Given the description of an element on the screen output the (x, y) to click on. 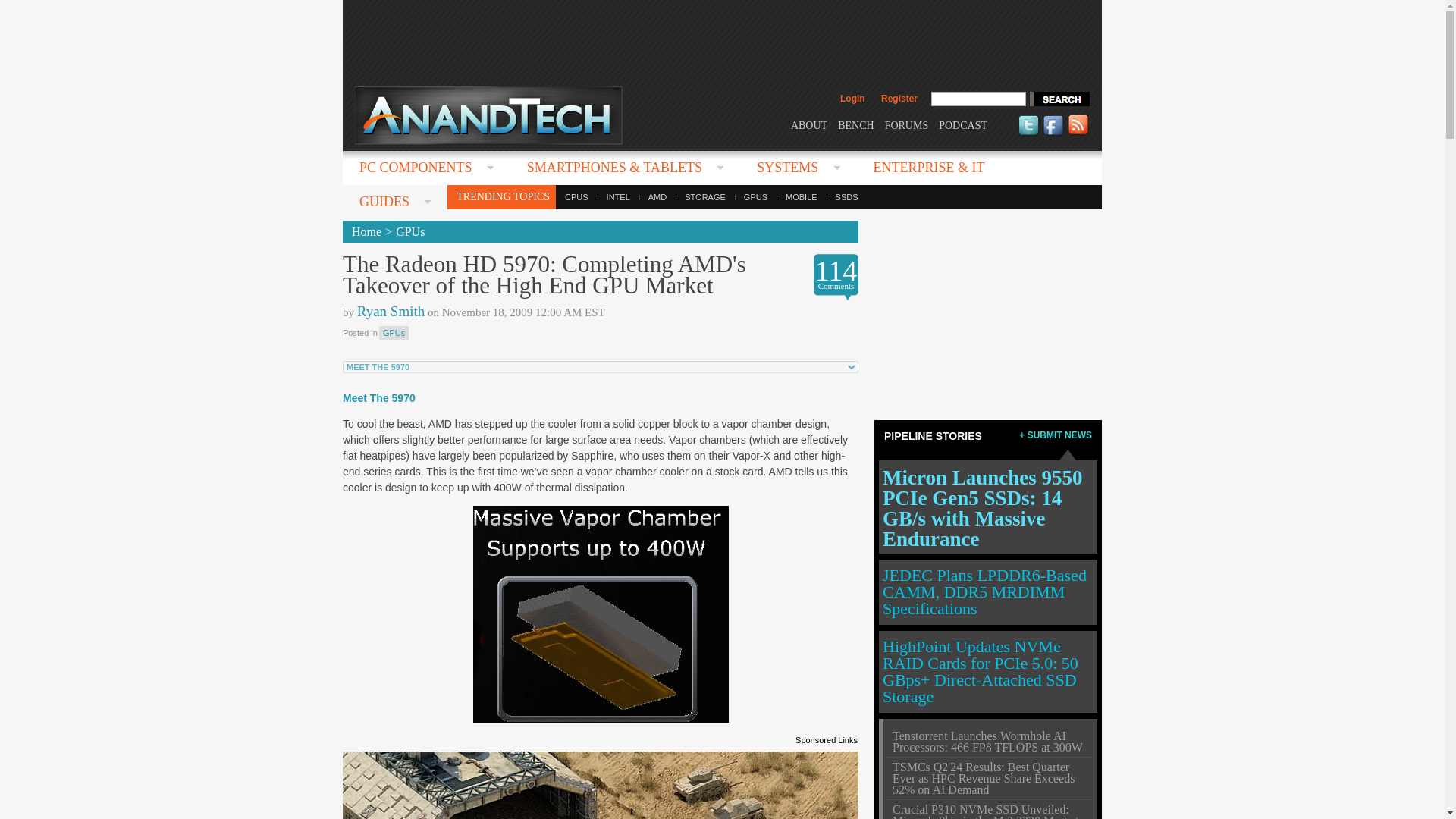
search (1059, 98)
BENCH (855, 125)
search (1059, 98)
Login (852, 98)
PODCAST (963, 125)
FORUMS (906, 125)
Register (898, 98)
search (1059, 98)
ABOUT (808, 125)
